Given the description of an element on the screen output the (x, y) to click on. 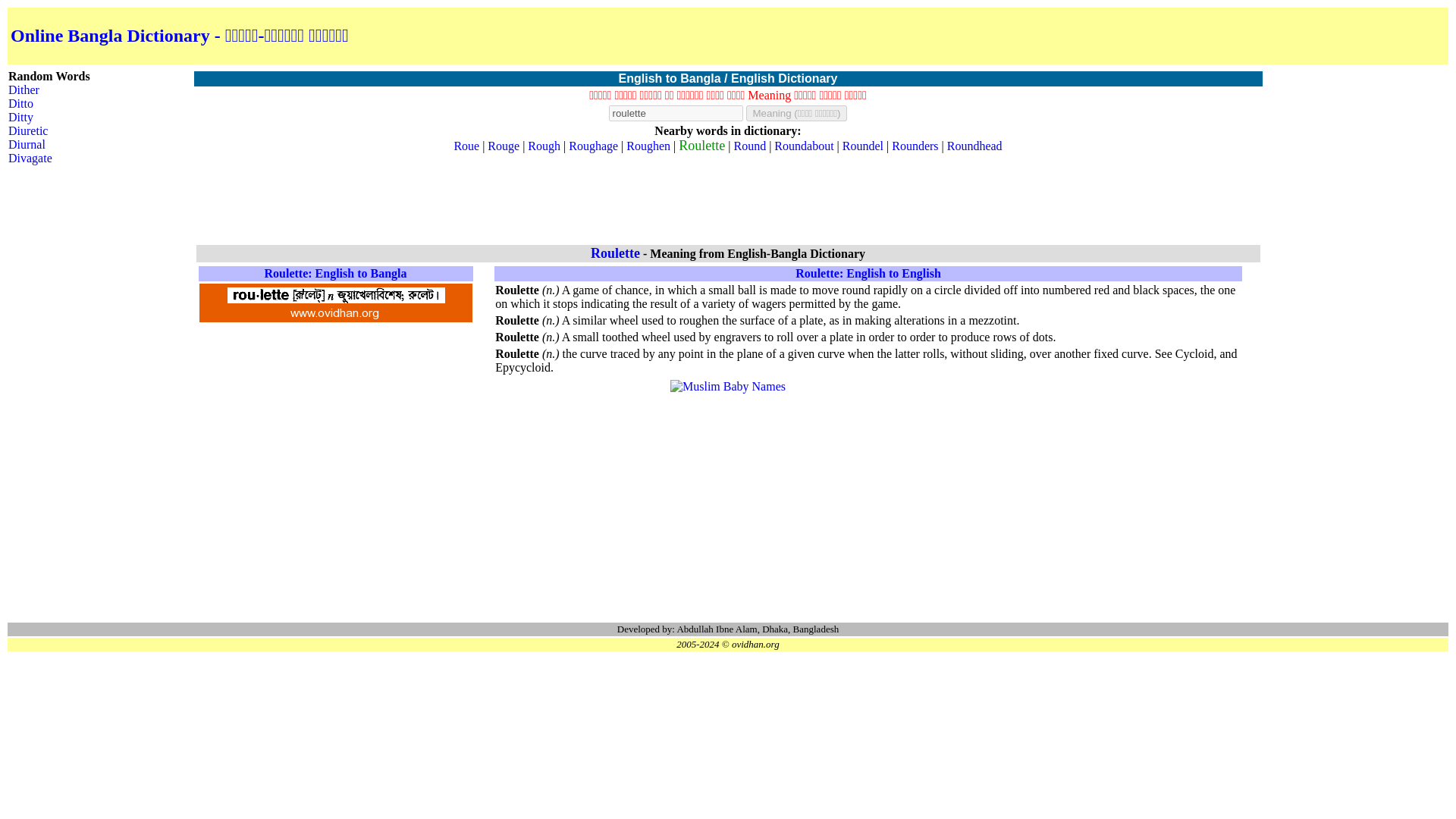
Roughen (647, 145)
Round (749, 145)
Roue (465, 145)
Ditty (20, 116)
Divagate (30, 157)
Roughage (593, 145)
Roundel (863, 145)
Ditto (20, 103)
Dither (23, 89)
Diuretic (28, 130)
